Given the description of an element on the screen output the (x, y) to click on. 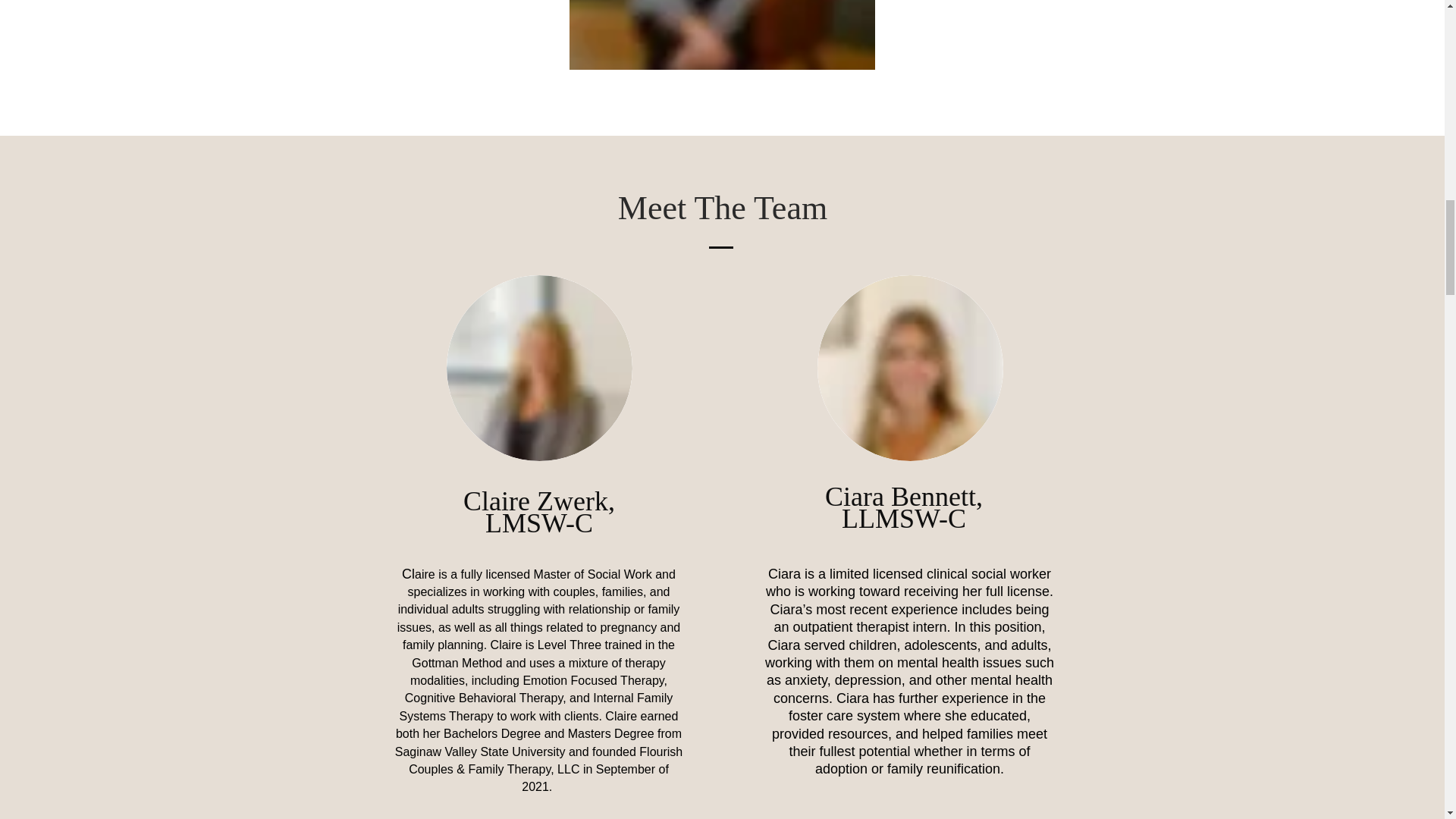
guy4.jpg (538, 368)
guy4.jpg (909, 368)
